Given the description of an element on the screen output the (x, y) to click on. 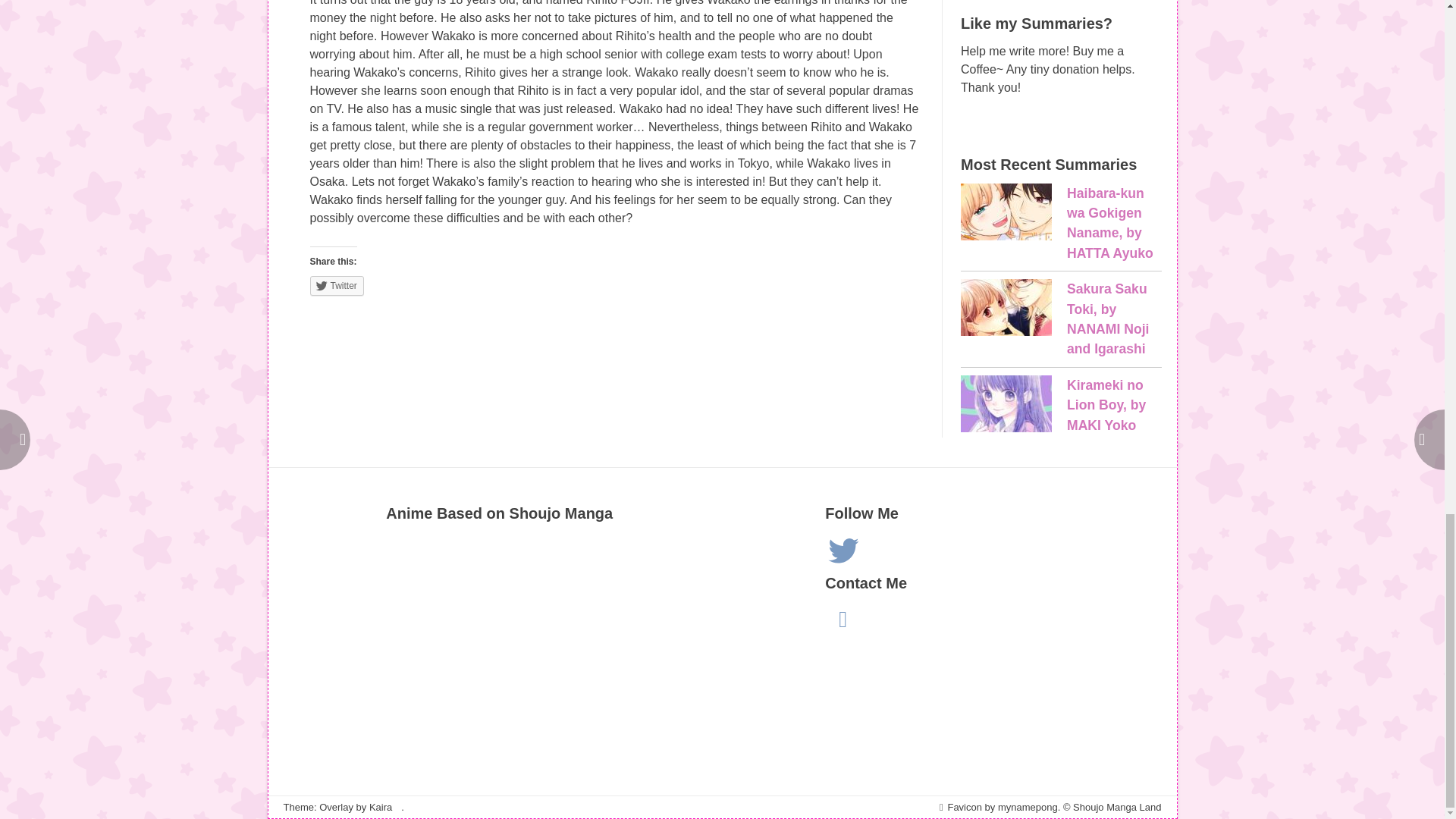
Kirameki no Lion Boy, by MAKI Yoko (1106, 405)
Kaira (380, 807)
Haibara-kun wa Gokigen Naname, by HATTA Ayuko (1005, 214)
Kirameki no Lion Boy, by MAKI Yoko (1106, 405)
Twitter (335, 285)
Kirameki no Lion Boy, by MAKI Yoko (1005, 406)
Click to share on Twitter (335, 285)
Haibara-kun wa Gokigen Naname, by HATTA Ayuko (1110, 223)
Twitter (843, 550)
Sakura Saku Toki, by NANAMI Noji and Igarashi (1005, 310)
mynamepong (1027, 807)
Sakura Saku Toki, by NANAMI Noji and Igarashi (1107, 318)
mynamepong (1027, 807)
Haibara-kun wa Gokigen Naname, by HATTA Ayuko (1110, 223)
